Given the description of an element on the screen output the (x, y) to click on. 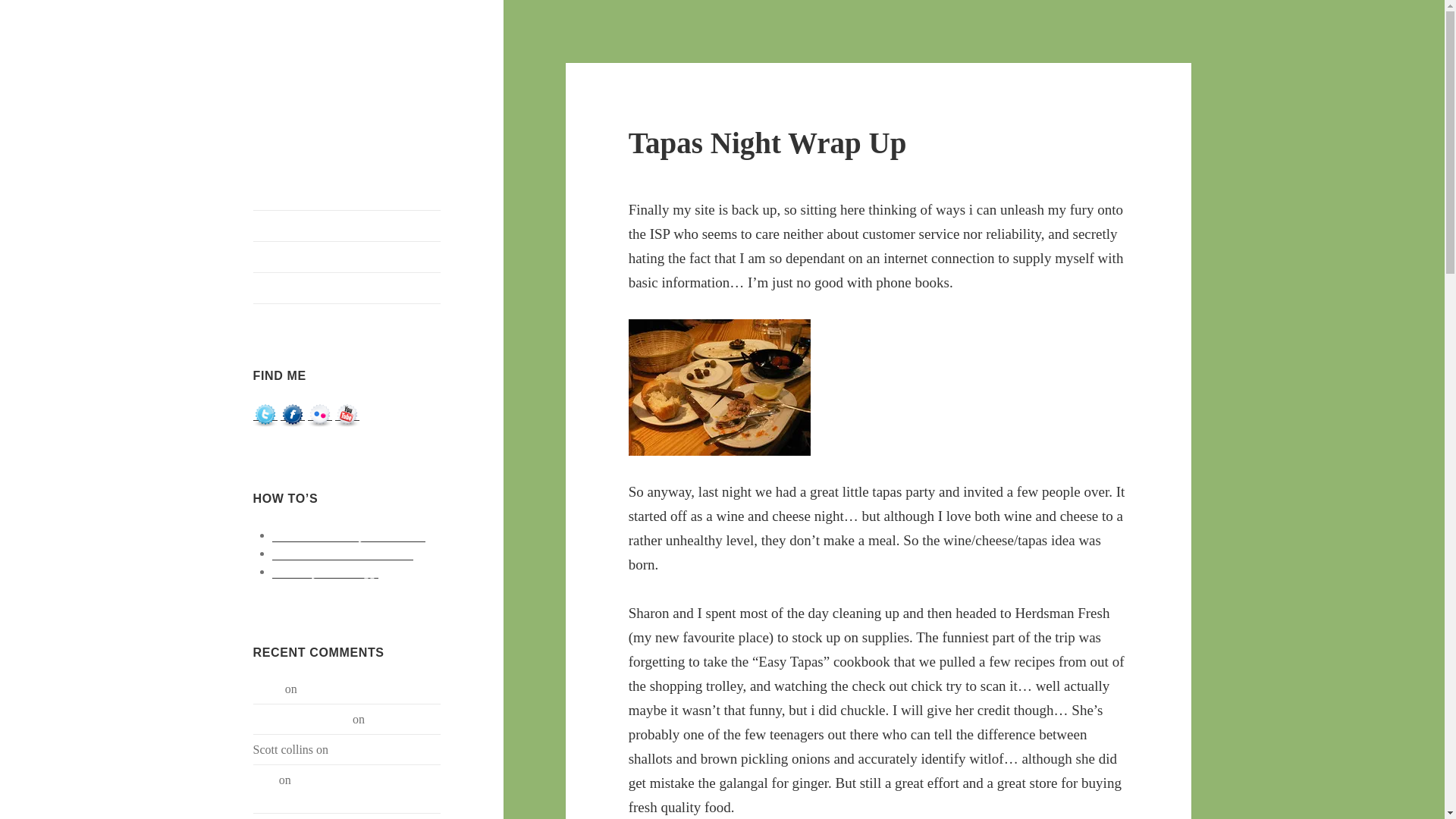
Vicky (267, 688)
For Harold (395, 718)
Faux Risotto of Squid (353, 688)
Follow me on Twitter (265, 413)
How to make Arepa con Huevo (348, 535)
View post How to poach an egg. (325, 571)
Colombian Sancocho (383, 748)
View post How to make Arepa con Huevo (348, 535)
How to make Turkish Coffee (342, 553)
About Me (347, 287)
View post How to make Turkish Coffee (342, 553)
Abstract Gourmet (340, 74)
Matt (264, 779)
Watch my ridiculous videos on YouTube (346, 413)
TENINA HOLDER (301, 718)
